Given the description of an element on the screen output the (x, y) to click on. 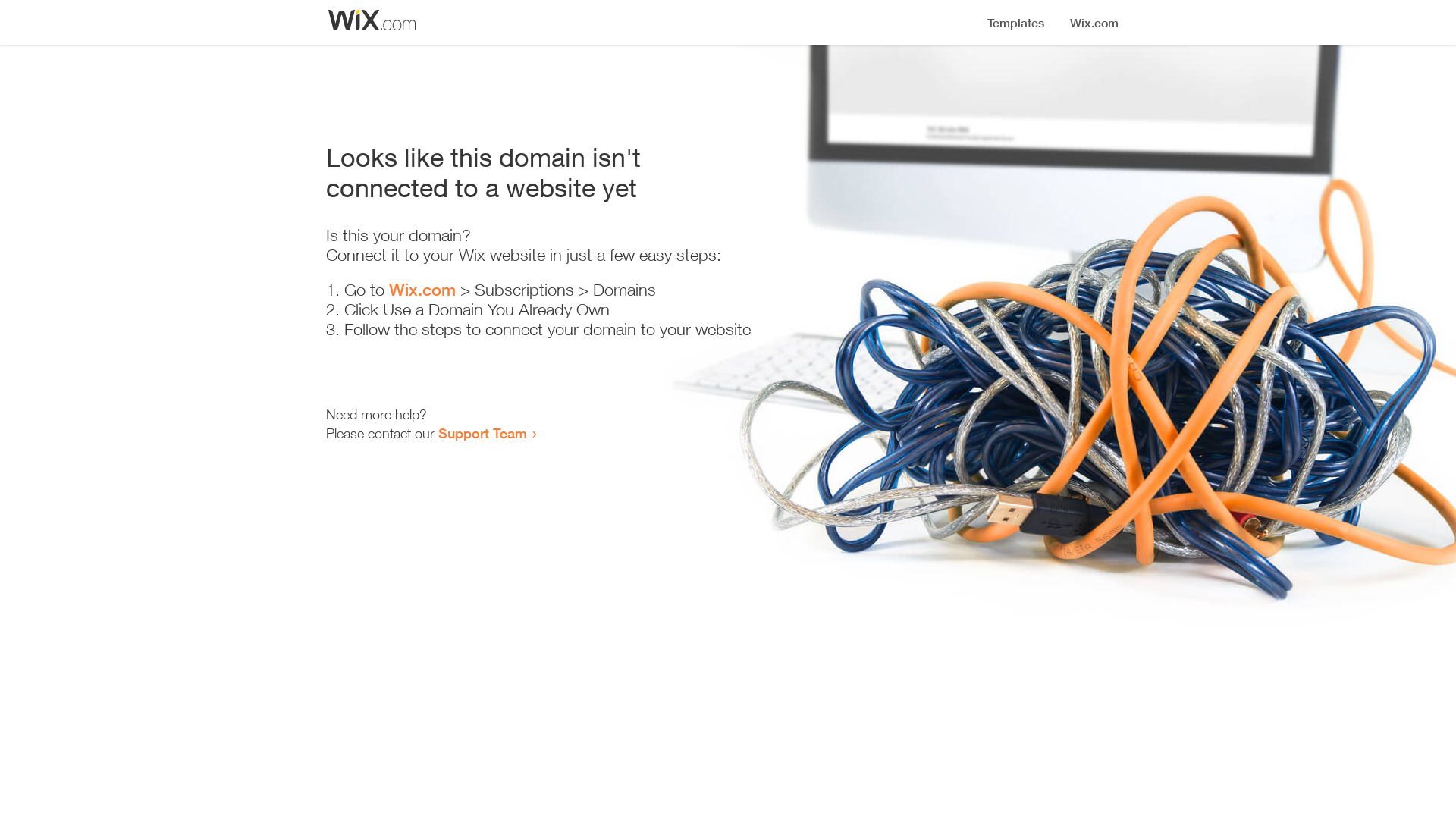
Wix.com Element type: text (422, 289)
Support Team Element type: text (482, 432)
